Given the description of an element on the screen output the (x, y) to click on. 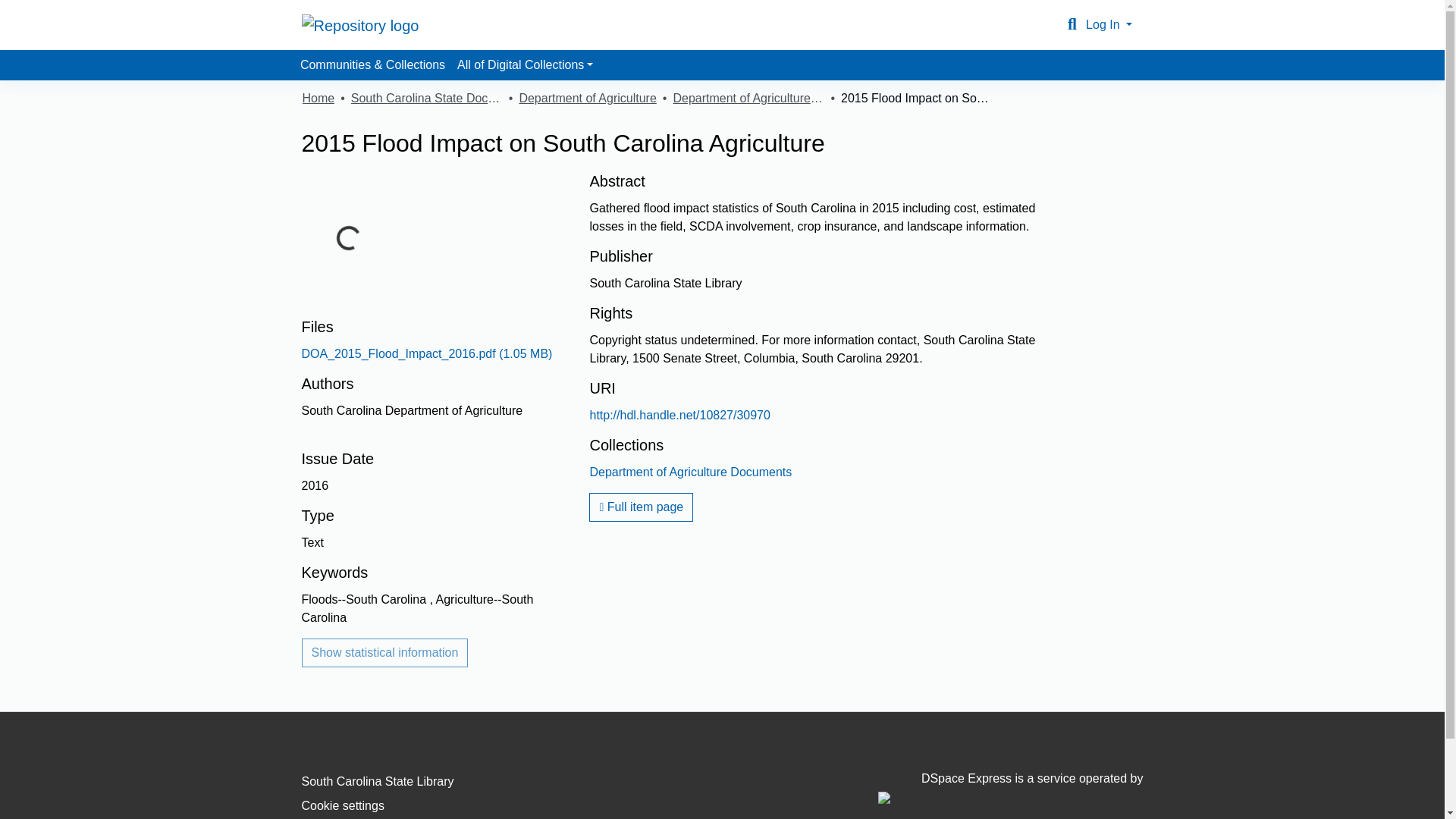
Search (1072, 24)
Department of Agriculture Documents (690, 472)
Home (317, 98)
Cookie settings (342, 805)
South Carolina State Library (377, 780)
Show statistical information (384, 652)
Log In (1108, 24)
All of Digital Collections (524, 64)
Full item page (641, 507)
South Carolina State Documents Depository (426, 98)
DSpace Express is a service operated by (1009, 787)
Department of Agriculture Documents (748, 98)
Department of Agriculture (587, 98)
